Given the description of an element on the screen output the (x, y) to click on. 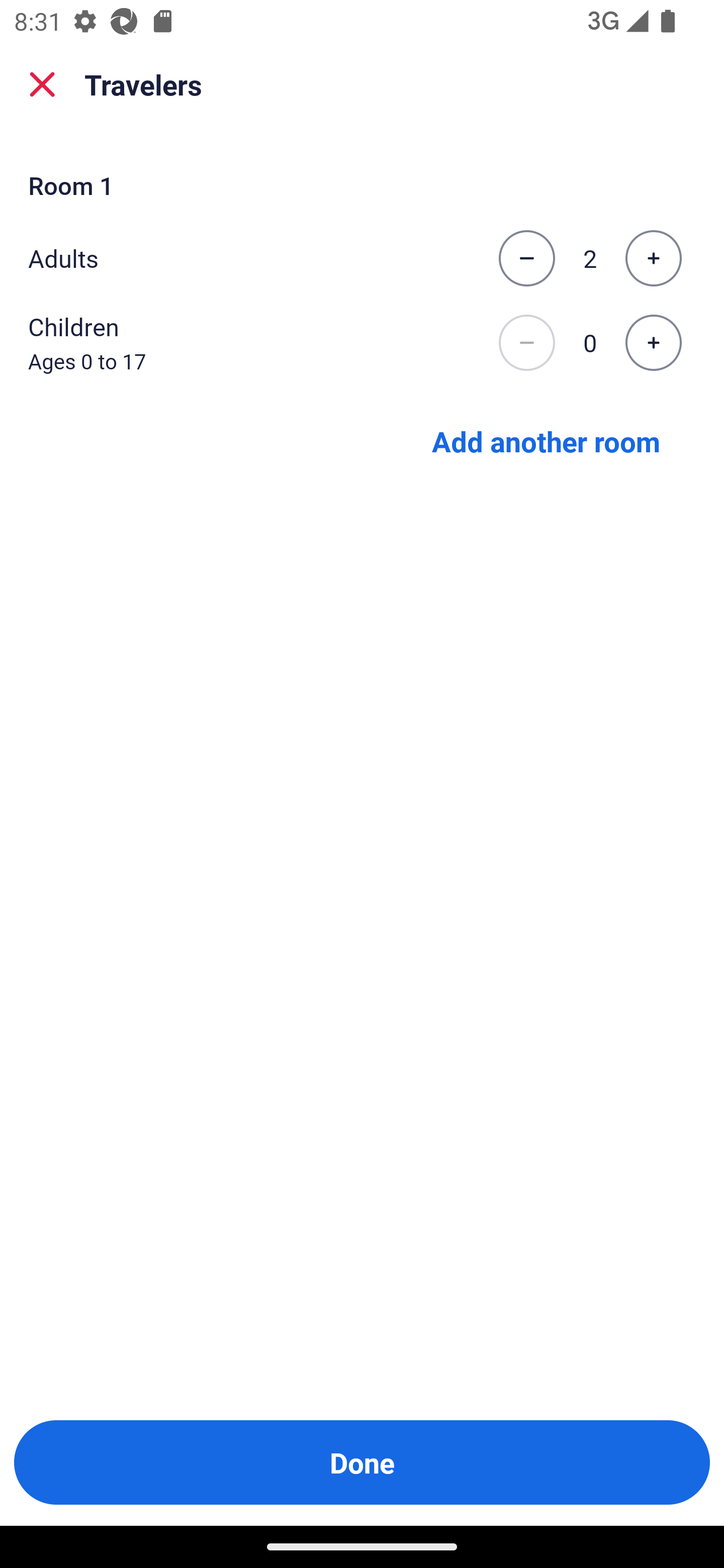
close (42, 84)
Decrease the number of adults (526, 258)
Increase the number of adults (653, 258)
Decrease the number of children (526, 343)
Increase the number of children (653, 343)
Add another room (545, 440)
Done (361, 1462)
